Given the description of an element on the screen output the (x, y) to click on. 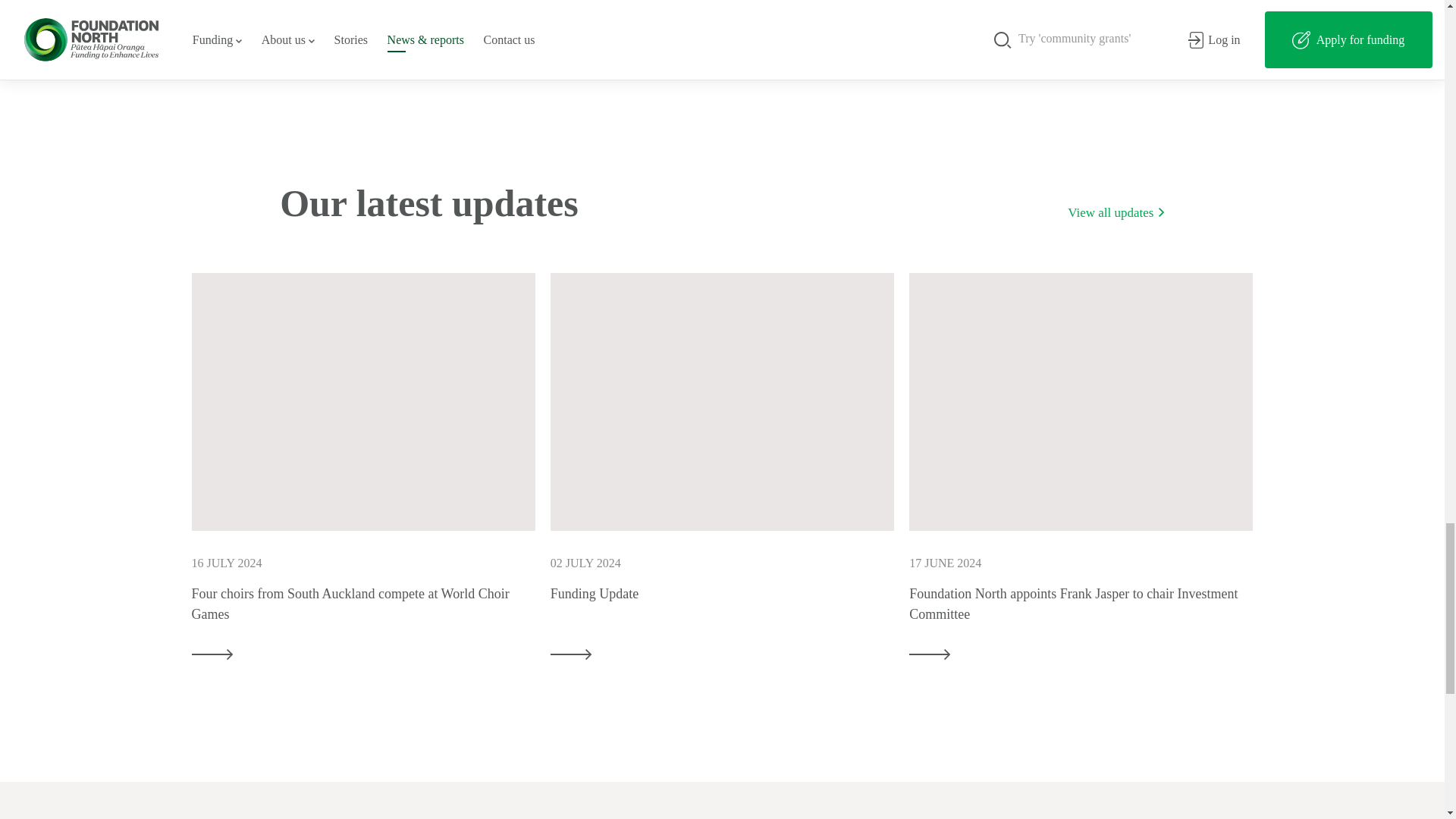
Share via Email (742, 41)
Share on Facebook (661, 41)
Share on Twitter (701, 41)
